Given the description of an element on the screen output the (x, y) to click on. 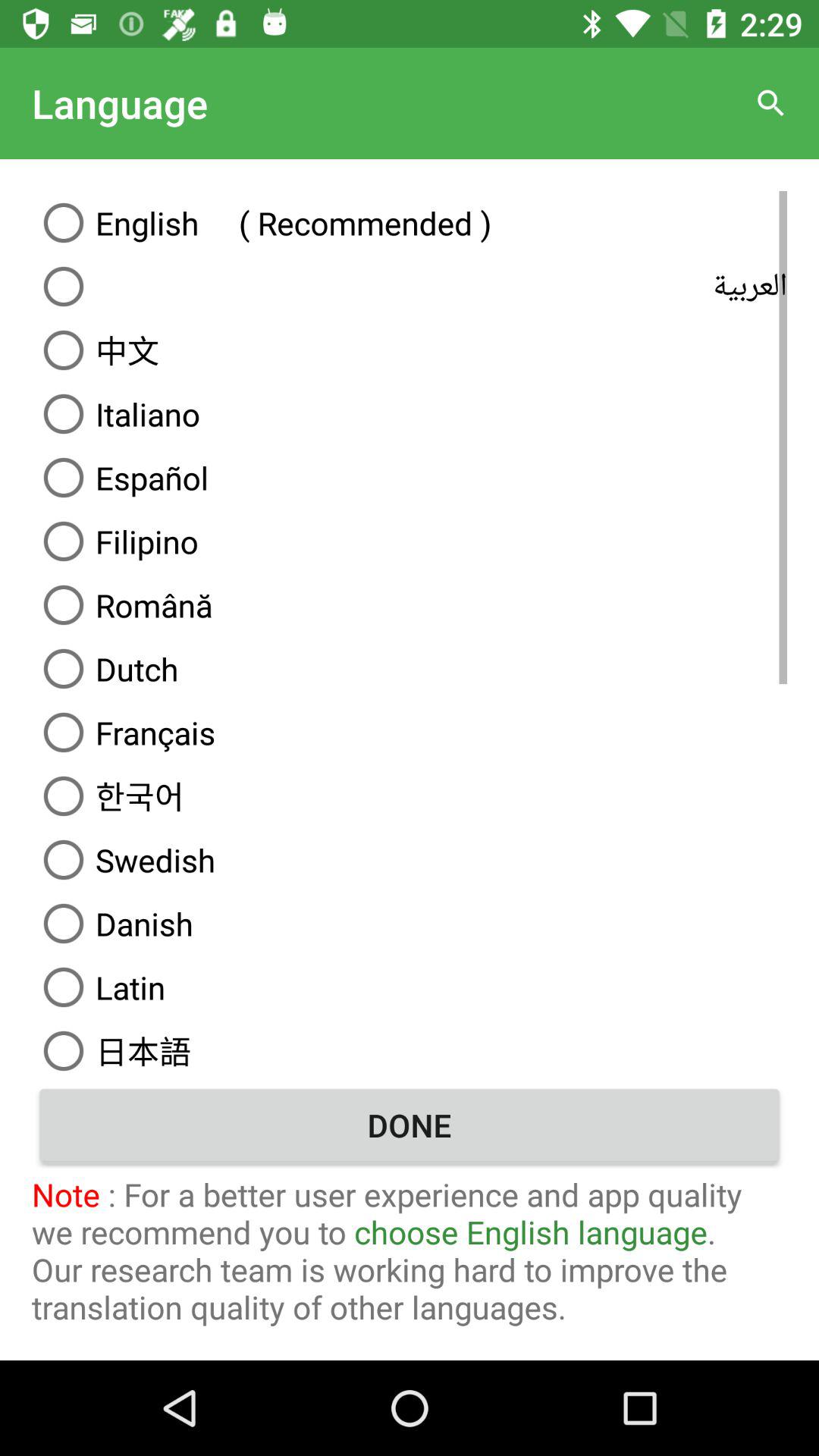
turn on the icon to the right of the language item (771, 103)
